Given the description of an element on the screen output the (x, y) to click on. 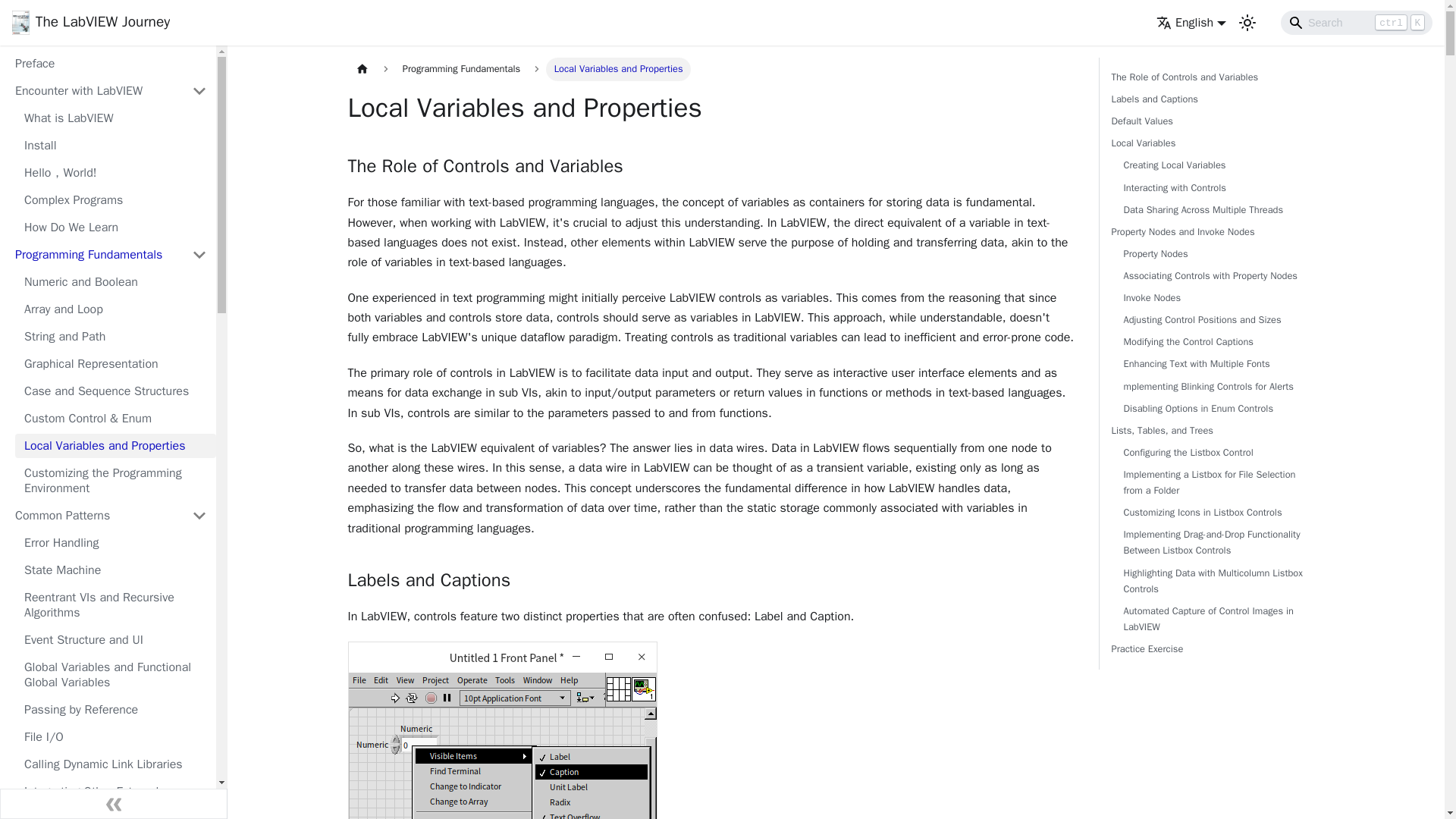
The LabVIEW Journey (90, 22)
Array and Loop (114, 309)
Calling Dynamic Link Libraries (114, 764)
How Do We Learn (114, 227)
Programming Fundamentals (94, 254)
Install (114, 145)
Labels and Captions (501, 730)
Reentrant VIs and Recursive Algorithms (114, 604)
Error Handling (114, 542)
Graphical Representation (114, 363)
